Given the description of an element on the screen output the (x, y) to click on. 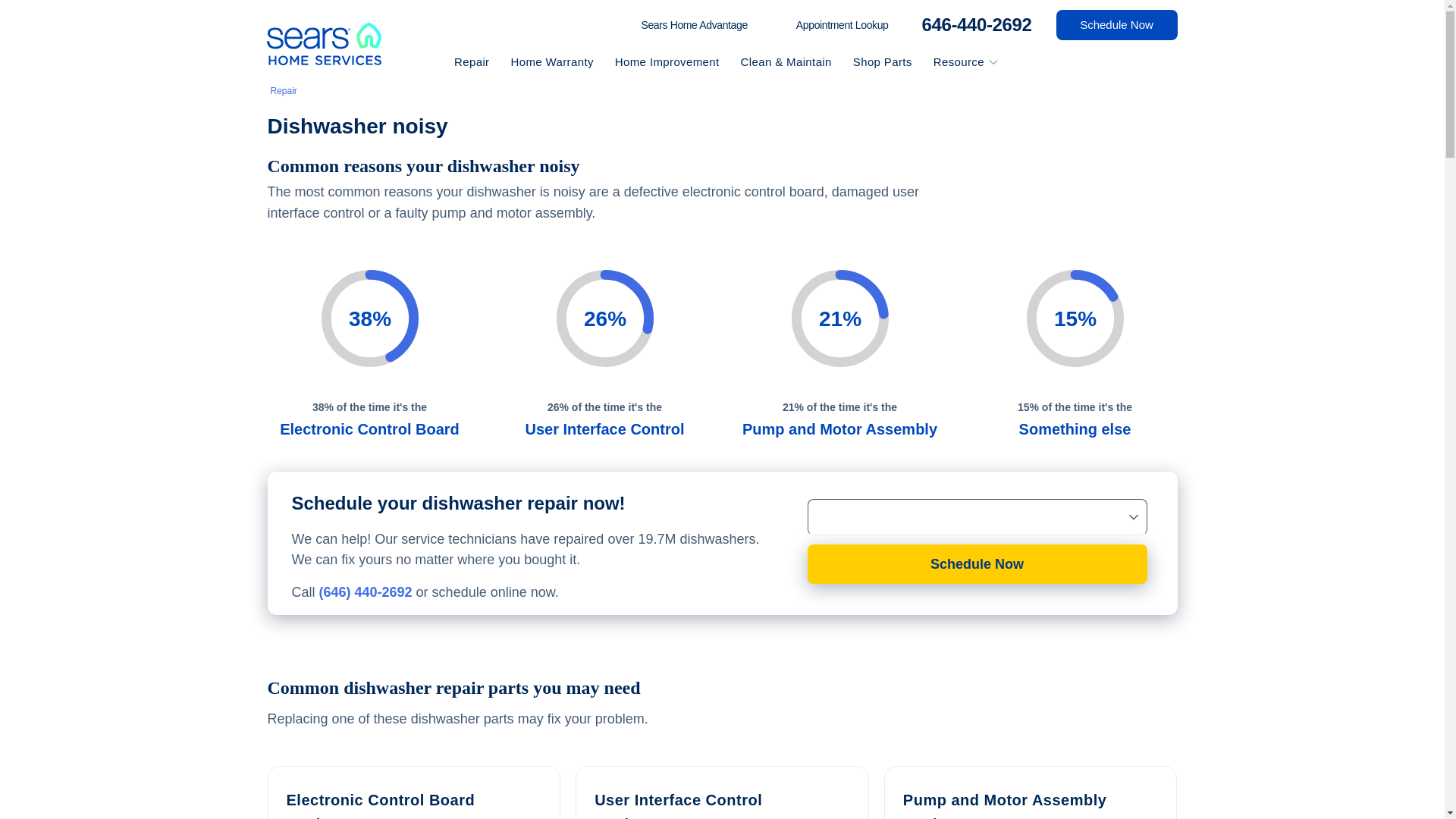
Repair (472, 61)
Schedule Now (1115, 24)
Appointment Lookup (842, 25)
Home Warranty (552, 61)
Resource (954, 61)
Home Improvement (668, 61)
Repair (283, 90)
646-440-2692 (972, 24)
Shop Parts (884, 61)
Schedule Now (976, 563)
